Given the description of an element on the screen output the (x, y) to click on. 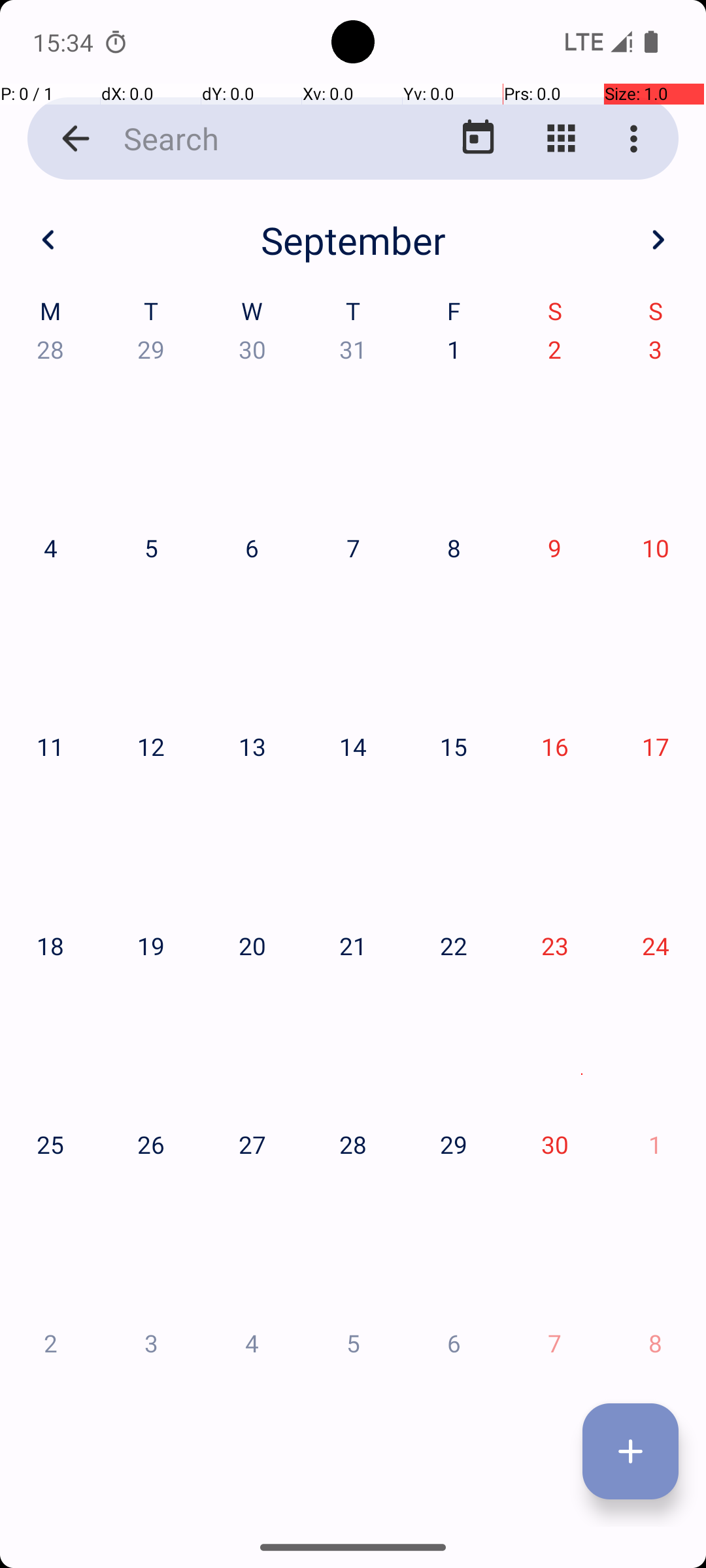
JANUARY Element type: android.widget.TextView (123, 319)
FEBRUARY Element type: android.widget.TextView (352, 319)
MARCH Element type: android.widget.TextView (582, 319)
APRIL Element type: android.widget.TextView (123, 621)
MAY Element type: android.widget.TextView (352, 621)
JUNE Element type: android.widget.TextView (582, 621)
JULY Element type: android.widget.TextView (123, 923)
AUGUST Element type: android.widget.TextView (352, 923)
SEPTEMBER Element type: android.widget.TextView (582, 923)
NOVEMBER Element type: android.widget.TextView (352, 1224)
DECEMBER Element type: android.widget.TextView (582, 1224)
September Element type: android.widget.TextView (352, 239)
